Given the description of an element on the screen output the (x, y) to click on. 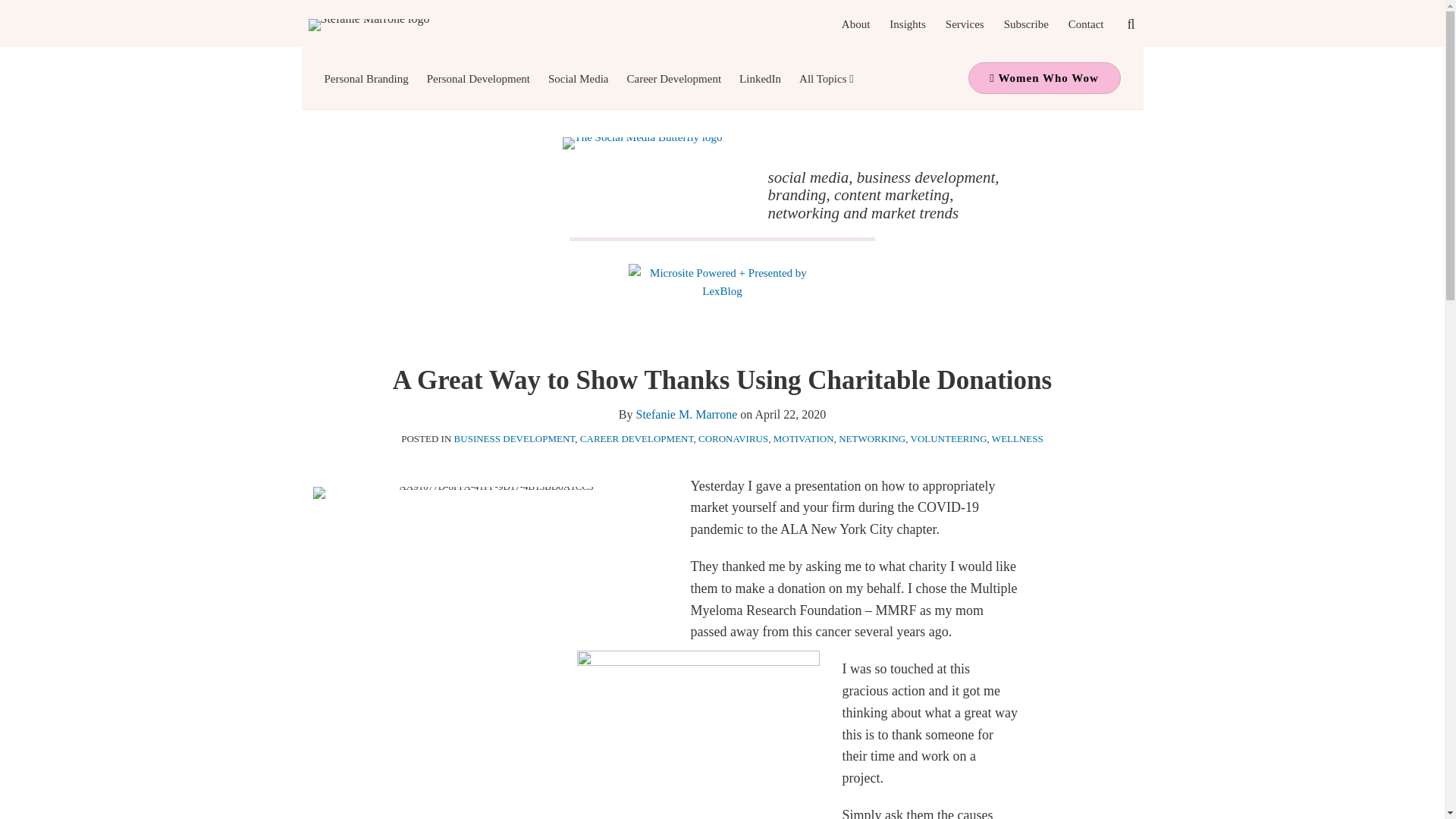
CORONAVIRUS (733, 438)
CAREER DEVELOPMENT (636, 438)
NETWORKING (871, 438)
Career Development (674, 78)
WELLNESS (1017, 438)
BUSINESS DEVELOPMENT (514, 438)
Social Media (578, 78)
Personal Development (477, 78)
Women Who Wow (1043, 78)
VOLUNTEERING (948, 438)
